Given the description of an element on the screen output the (x, y) to click on. 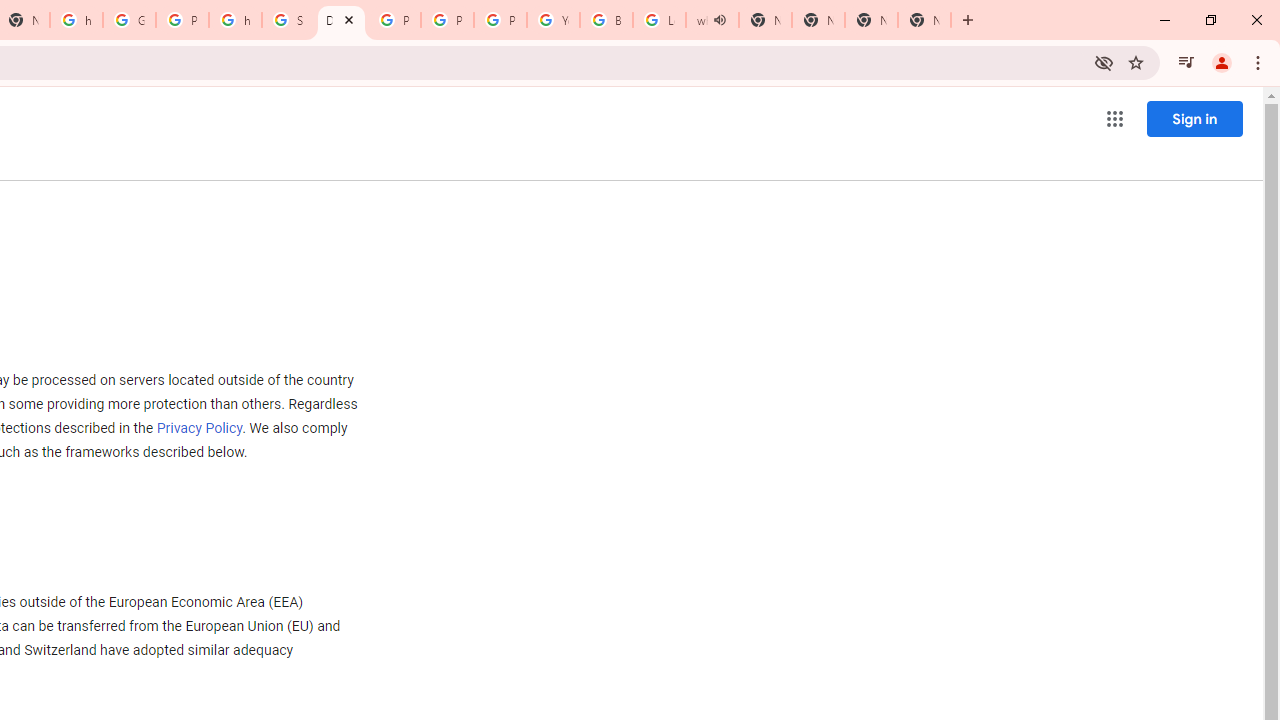
YouTube (553, 20)
https://scholar.google.com/ (76, 20)
Privacy Help Center - Policies Help (447, 20)
https://scholar.google.com/ (235, 20)
New Tab (871, 20)
